Given the description of an element on the screen output the (x, y) to click on. 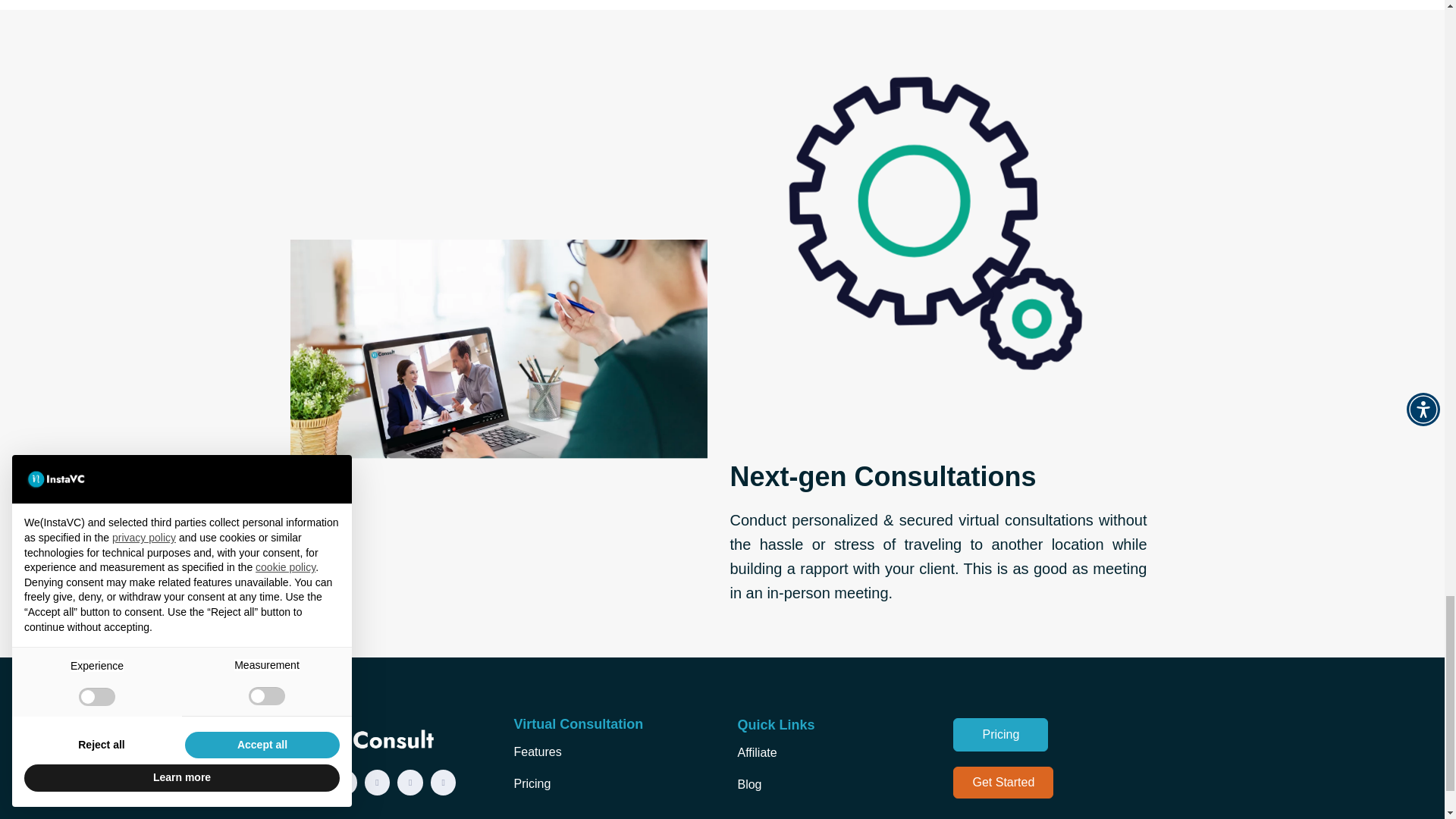
Get Started (1002, 782)
Affiliate (756, 752)
Features (536, 751)
Pricing (1000, 734)
Blog (748, 784)
Pricing (531, 783)
